Given the description of an element on the screen output the (x, y) to click on. 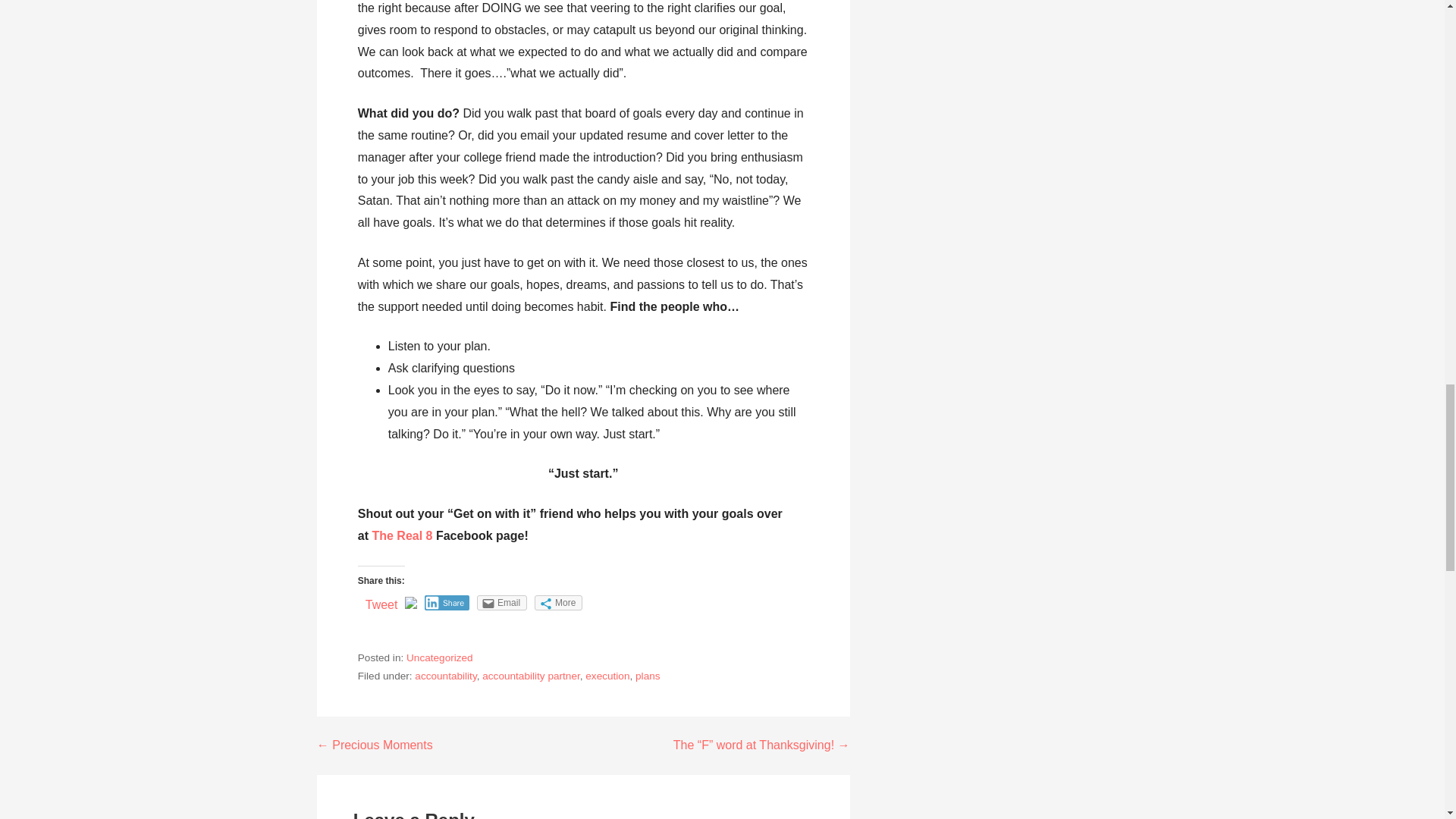
Uncategorized (439, 657)
plans (647, 675)
Email (502, 602)
accountability partner (530, 675)
Share (446, 602)
More (558, 602)
Tweet (381, 604)
The Real 8 (401, 535)
Click to email this to a friend (502, 602)
accountability (445, 675)
execution (606, 675)
